Given the description of an element on the screen output the (x, y) to click on. 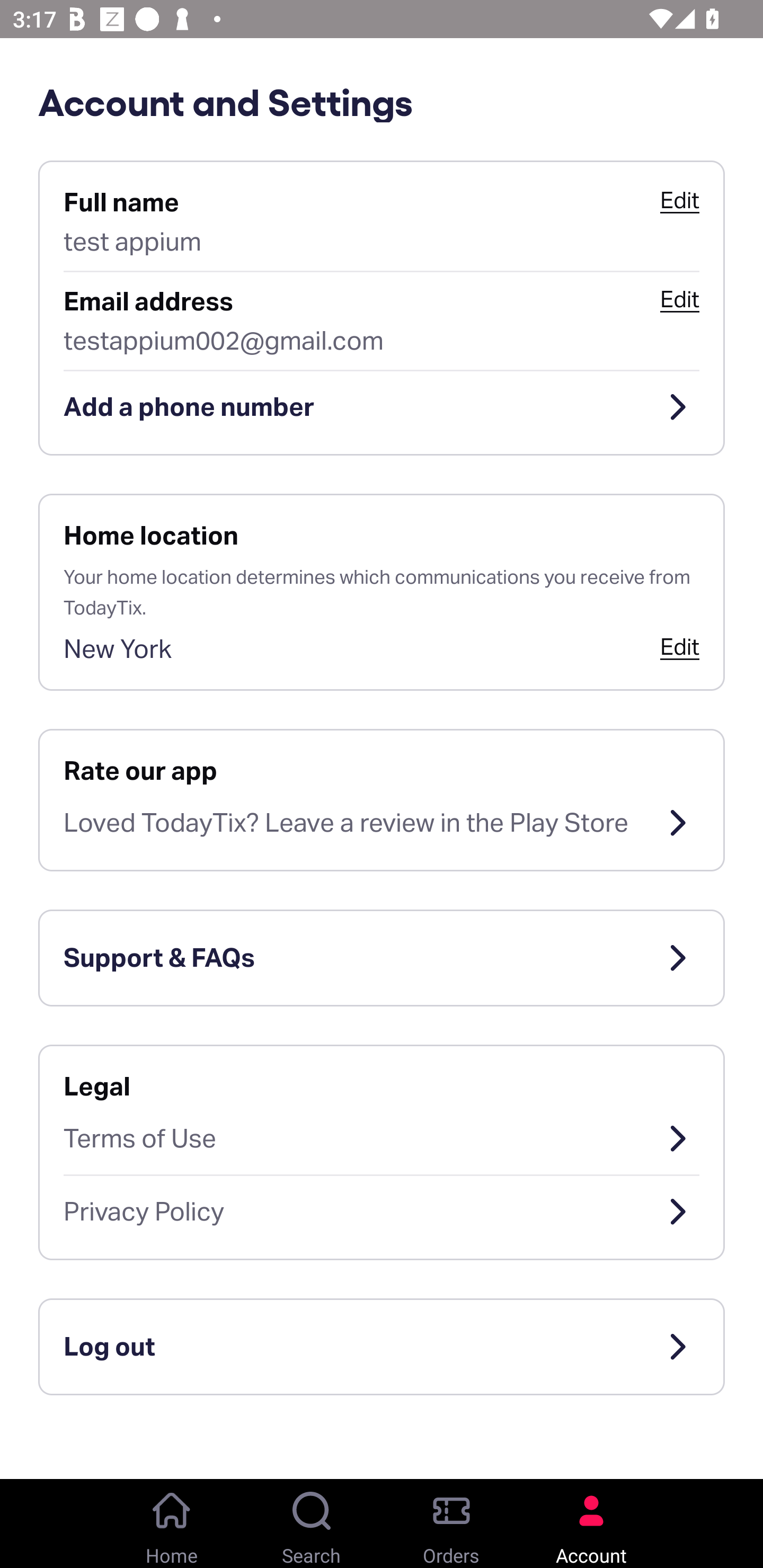
Edit (679, 200)
Edit (679, 299)
Add a phone number (381, 406)
Edit (679, 646)
Loved TodayTix? Leave a review in the Play Store (381, 822)
Support & FAQs (381, 957)
Terms of Use (381, 1137)
Privacy Policy (381, 1211)
Log out (381, 1346)
Home (171, 1523)
Search (311, 1523)
Orders (451, 1523)
